Given the description of an element on the screen output the (x, y) to click on. 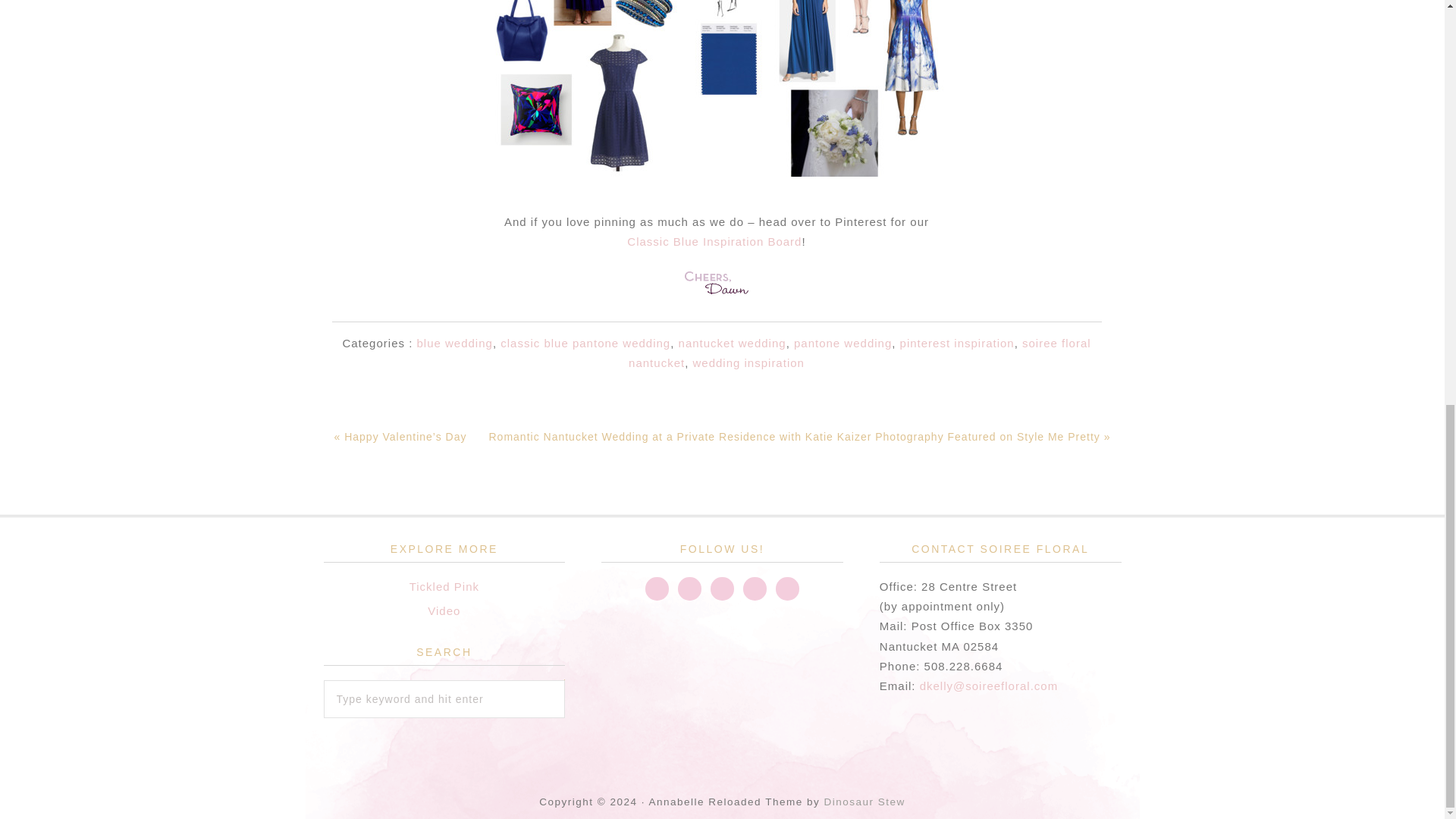
pantone wedding (842, 342)
classic blue pantone wedding (584, 342)
Classic Blue Inspiration Board (714, 241)
Tickled Pink (444, 585)
pinterest inspiration (956, 342)
blue wedding (454, 342)
soiree floral nantucket (859, 352)
Video (444, 610)
